Given the description of an element on the screen output the (x, y) to click on. 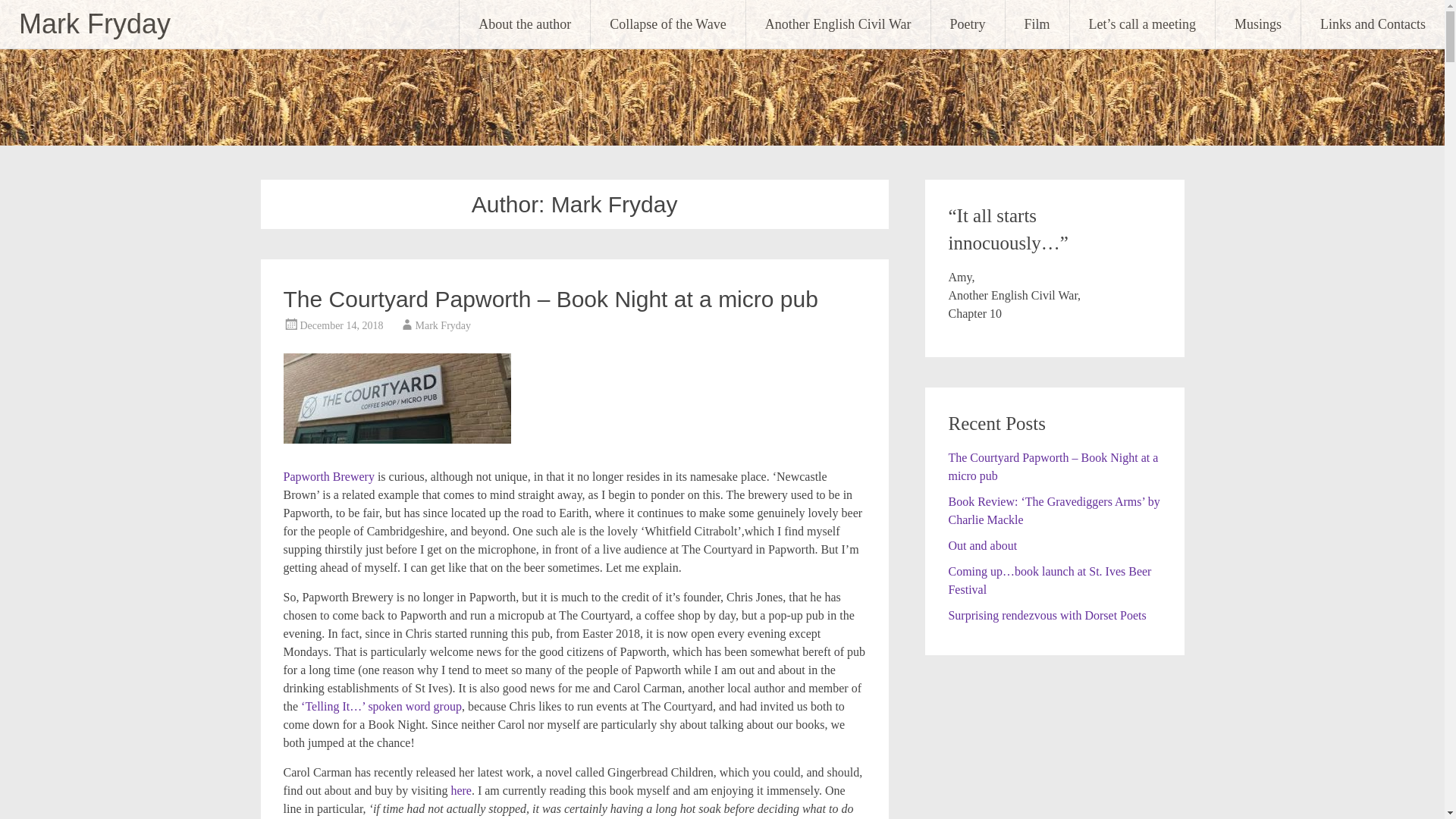
Another English Civil War (837, 24)
Mark Fryday (94, 23)
here (460, 789)
Mark Fryday (442, 325)
Film (1037, 24)
Mark Fryday (94, 23)
Musings (1257, 24)
December 14, 2018 (341, 325)
Collapse of the Wave (668, 24)
Papworth Brewery (328, 476)
